Given the description of an element on the screen output the (x, y) to click on. 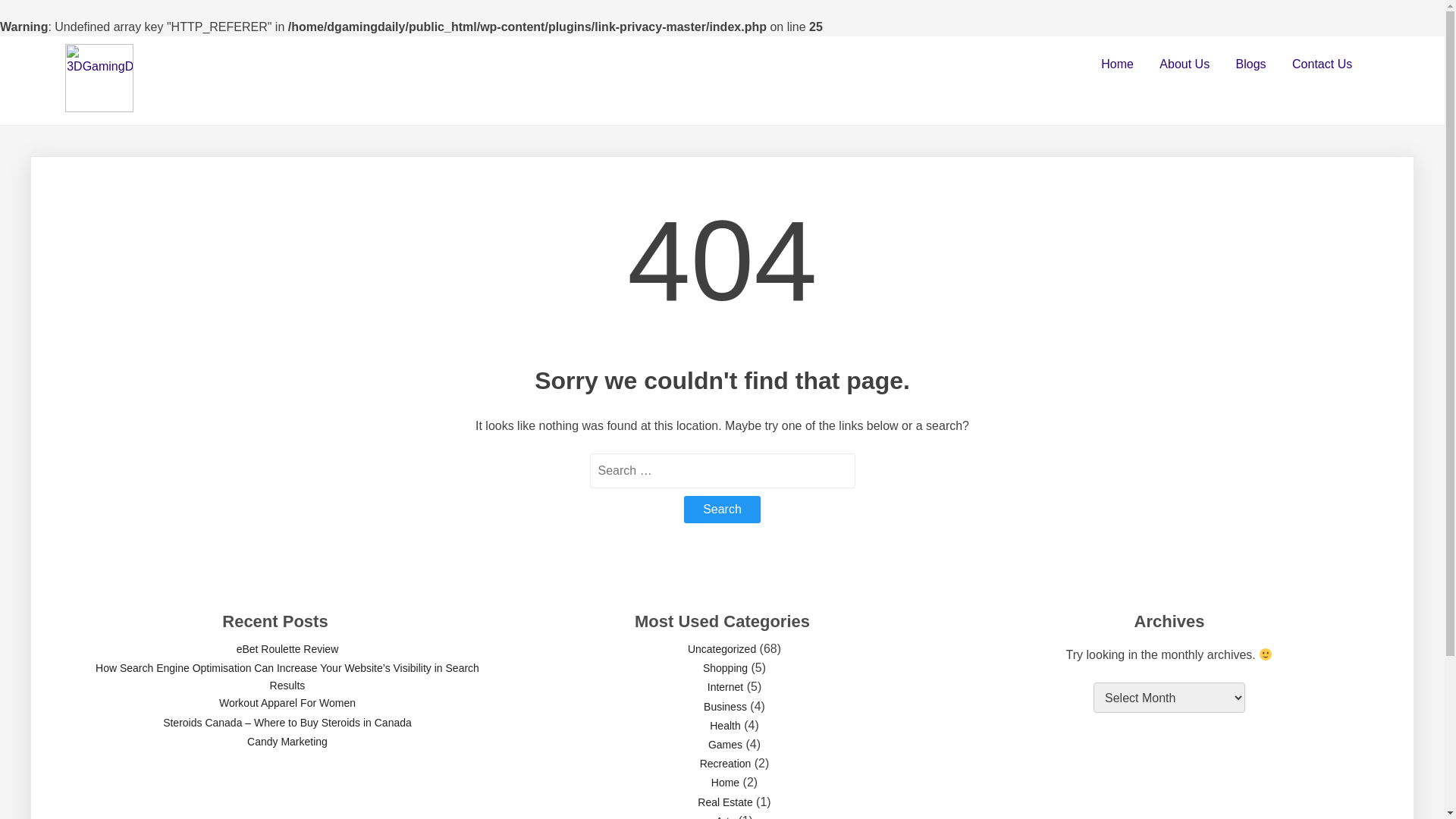
Games Element type: text (725, 744)
Uncategorized Element type: text (721, 649)
About Us Element type: text (1184, 64)
Recreation Element type: text (725, 763)
Candy Marketing Element type: text (287, 741)
Internet Element type: text (725, 686)
Workout Apparel For Women Element type: text (287, 702)
Blogs Element type: text (1250, 64)
Real Estate Element type: text (724, 802)
Contact Us Element type: text (1321, 64)
Health Element type: text (724, 725)
Home Element type: text (1117, 64)
3DGamingDaily Element type: text (144, 60)
Search Element type: text (722, 509)
Home Element type: text (725, 782)
Business Element type: text (724, 706)
eBet Roulette Review Element type: text (287, 649)
Shopping Element type: text (724, 668)
